Given the description of an element on the screen output the (x, y) to click on. 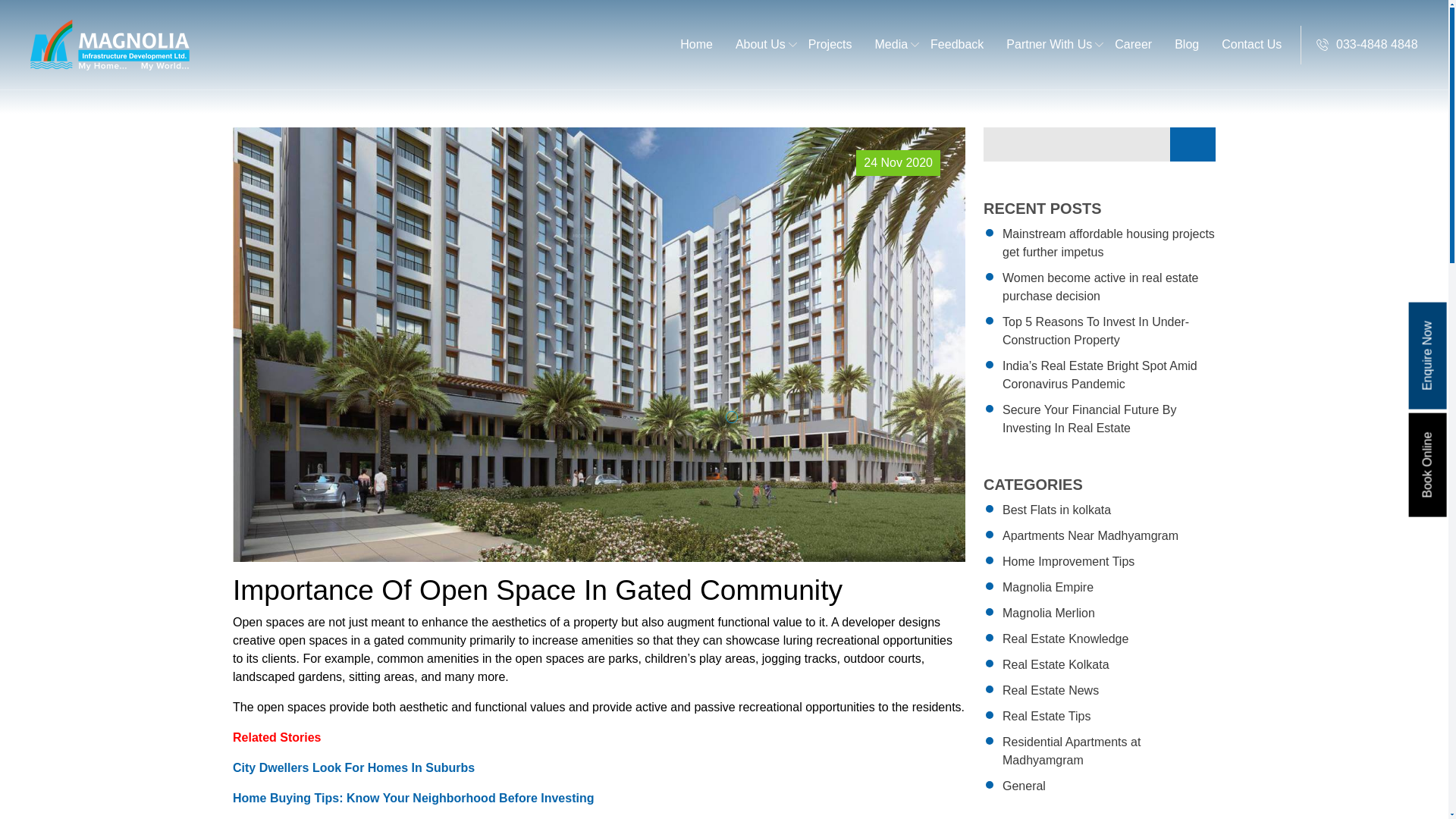
Search (1192, 144)
About Us (760, 44)
Search (1192, 144)
Partner With Us (1049, 44)
Contact Us (1251, 44)
Projects (830, 44)
Feedback (956, 44)
